Given the description of an element on the screen output the (x, y) to click on. 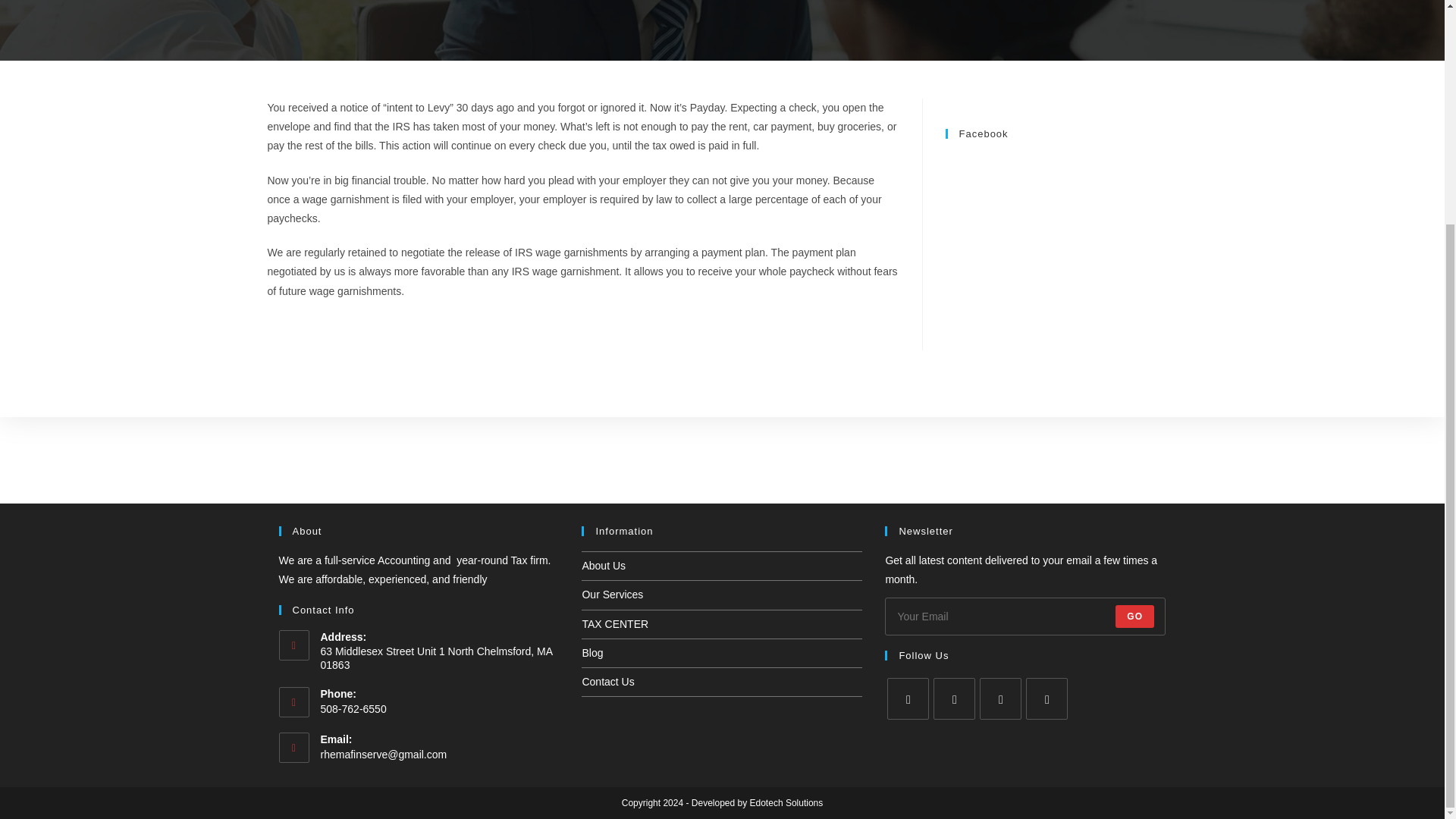
About Us (603, 265)
Our Services (611, 295)
Facebook (982, 133)
TAX CENTER (613, 324)
